Given the description of an element on the screen output the (x, y) to click on. 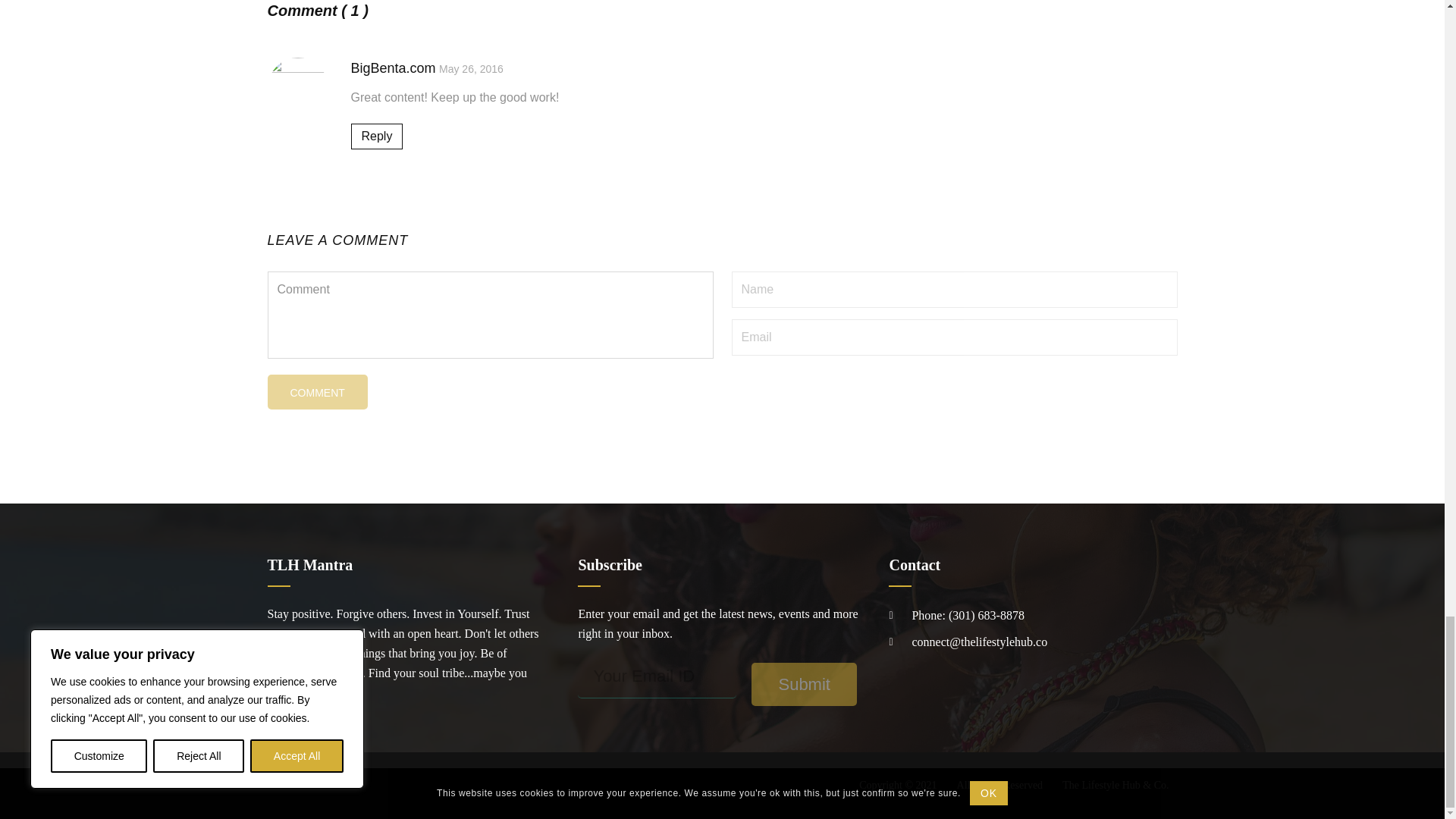
Submit (803, 683)
Comment (316, 391)
